Given the description of an element on the screen output the (x, y) to click on. 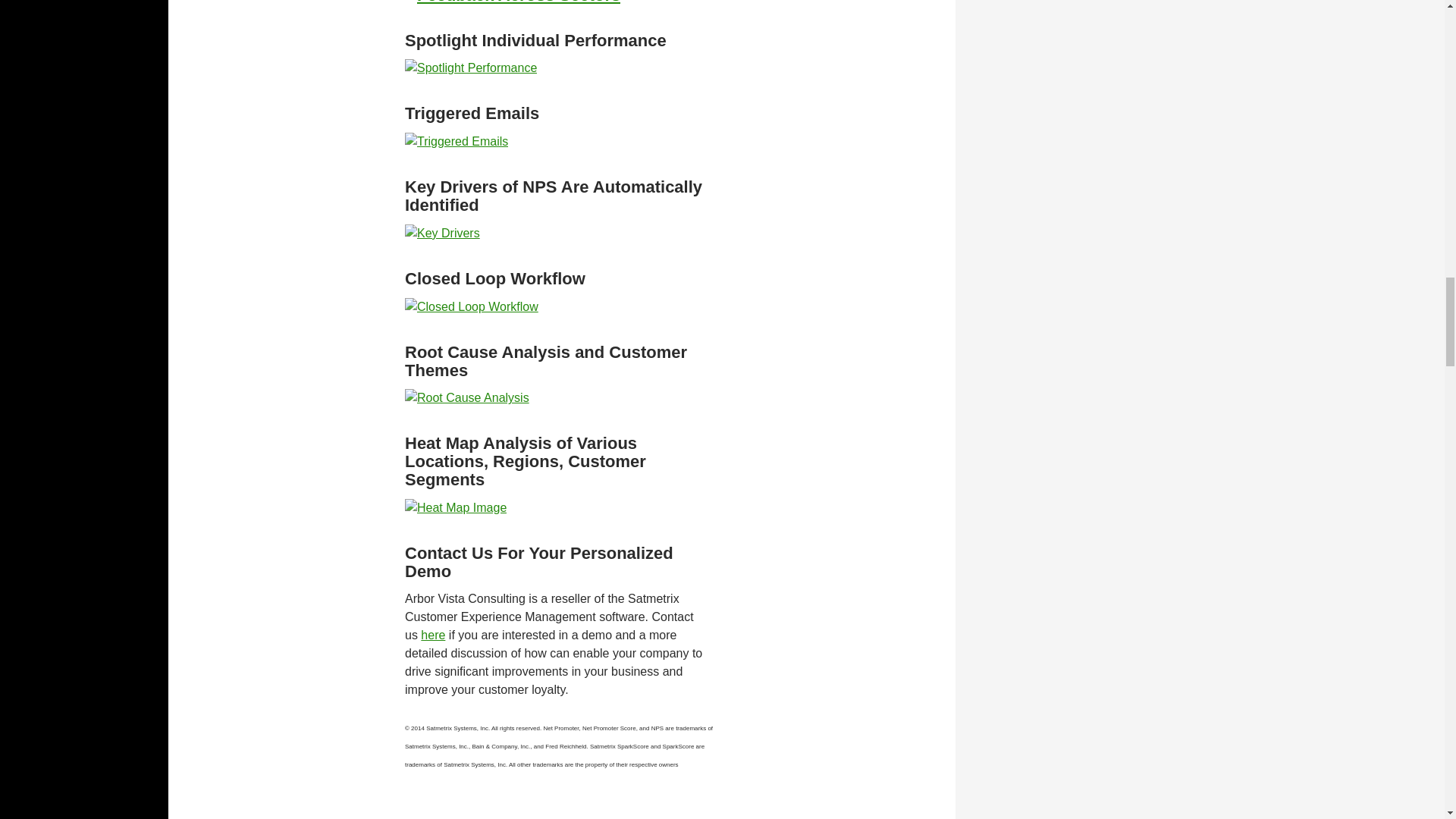
here (673, 11)
